Given the description of an element on the screen output the (x, y) to click on. 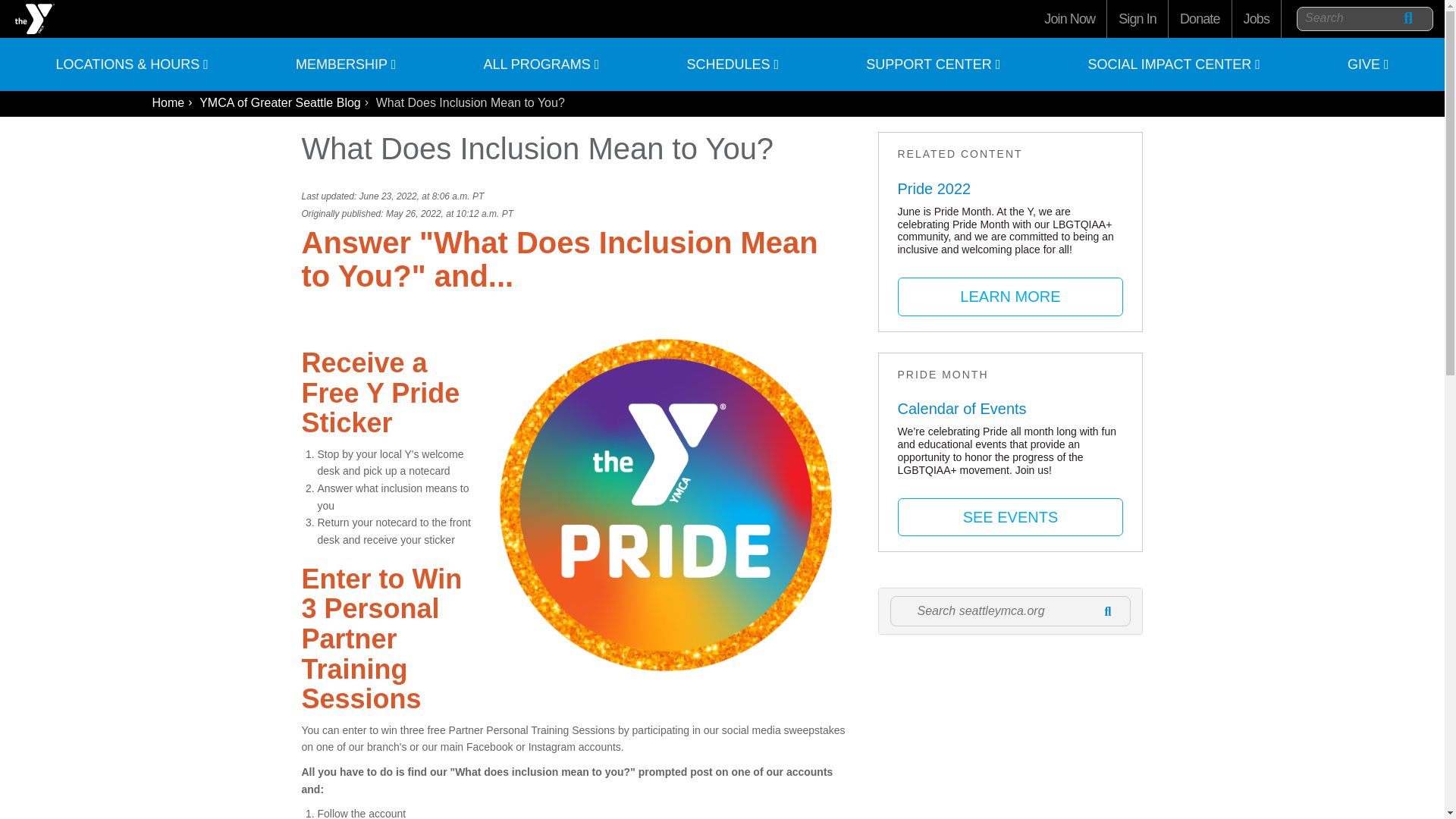
Donate to the YMCA of Greater Seattle (1200, 18)
